Given the description of an element on the screen output the (x, y) to click on. 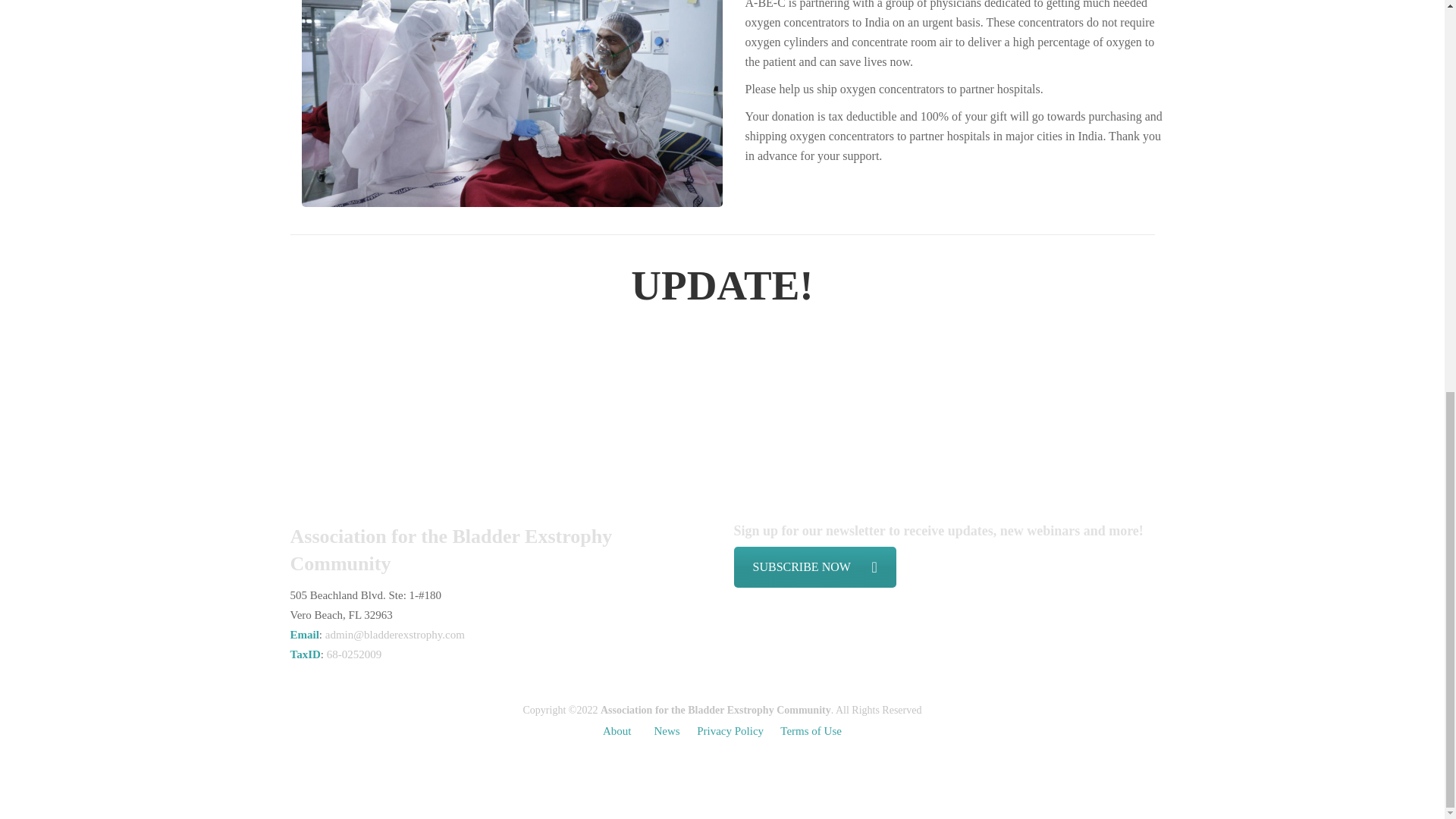
civil (511, 103)
Subscriptions (814, 567)
